Given the description of an element on the screen output the (x, y) to click on. 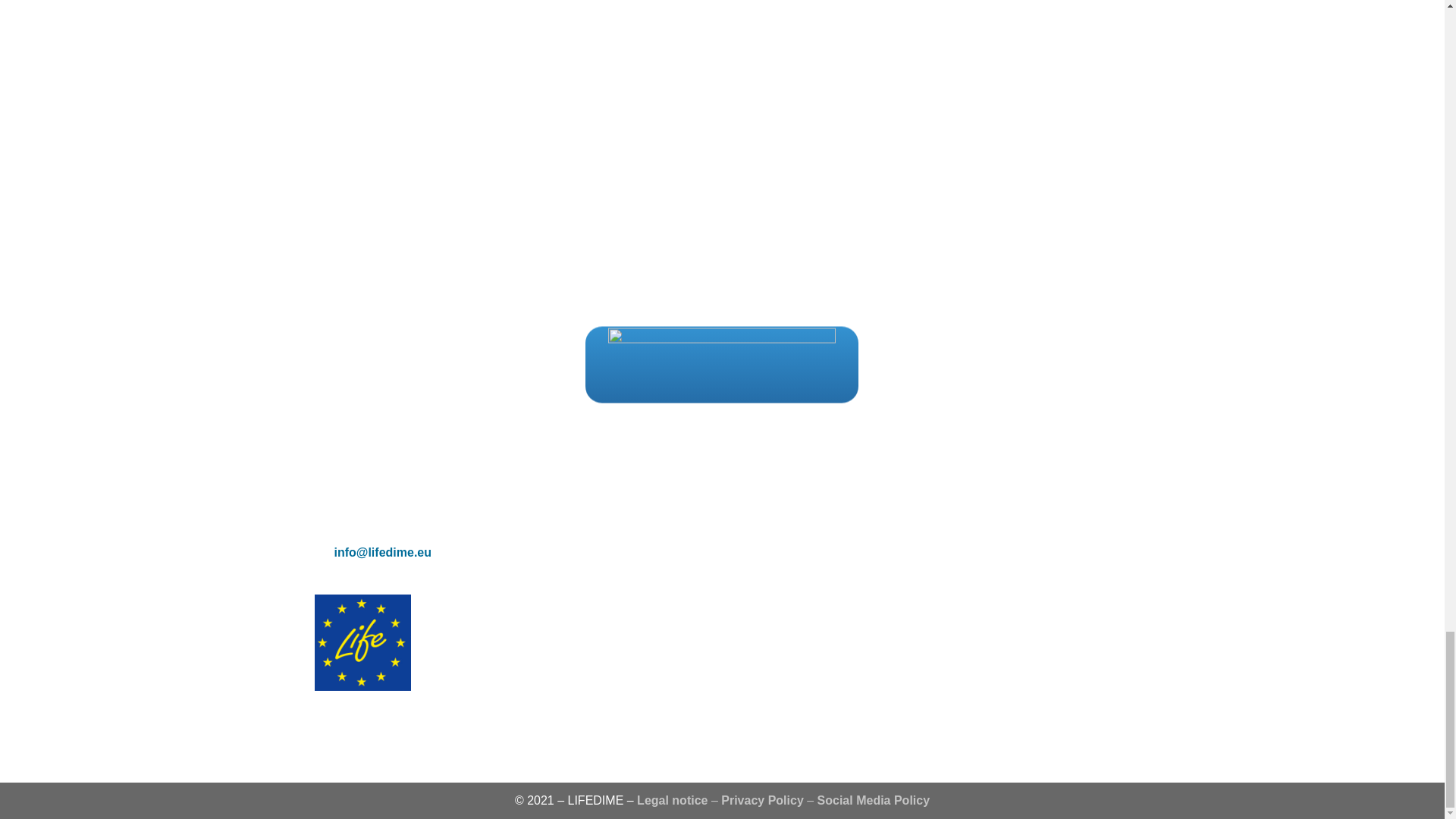
Social Media Policy (873, 799)
Legal notice (672, 799)
Privacy Policy (761, 799)
